Given the description of an element on the screen output the (x, y) to click on. 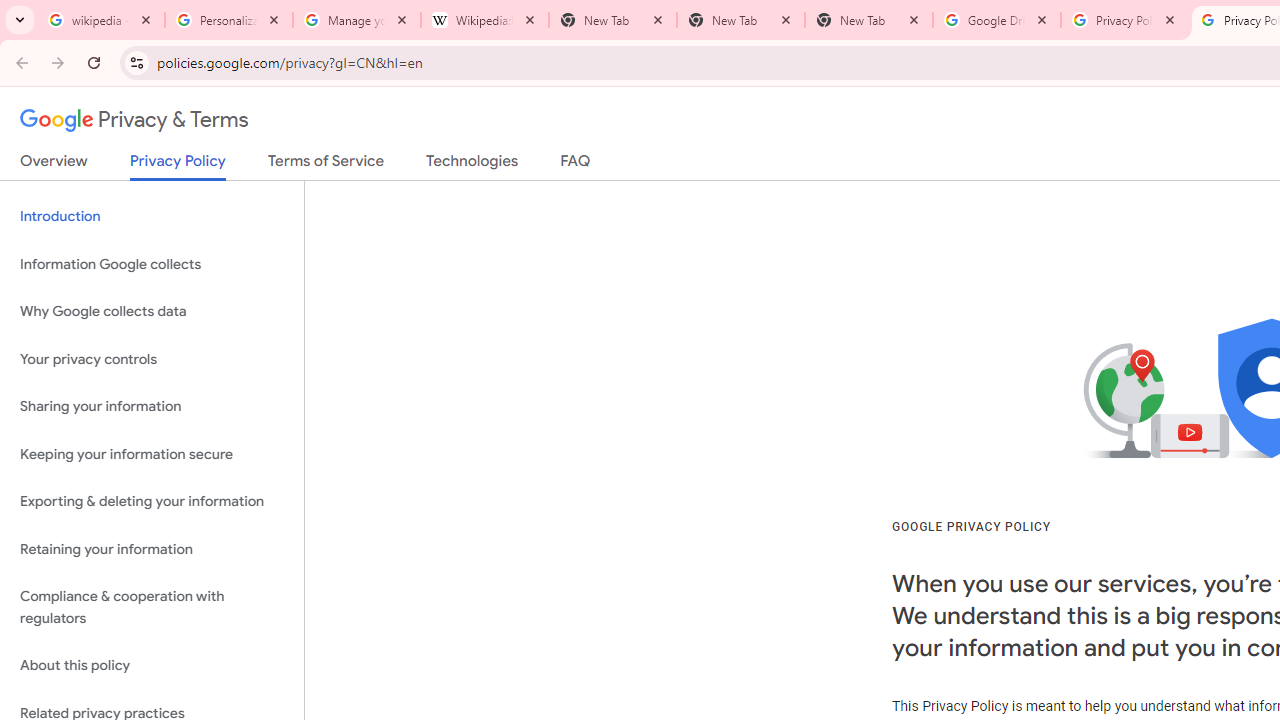
Google Drive: Sign-in (997, 20)
Sharing your information (152, 407)
New Tab (869, 20)
Compliance & cooperation with regulators (152, 607)
Keeping your information secure (152, 453)
New Tab (741, 20)
